Given the description of an element on the screen output the (x, y) to click on. 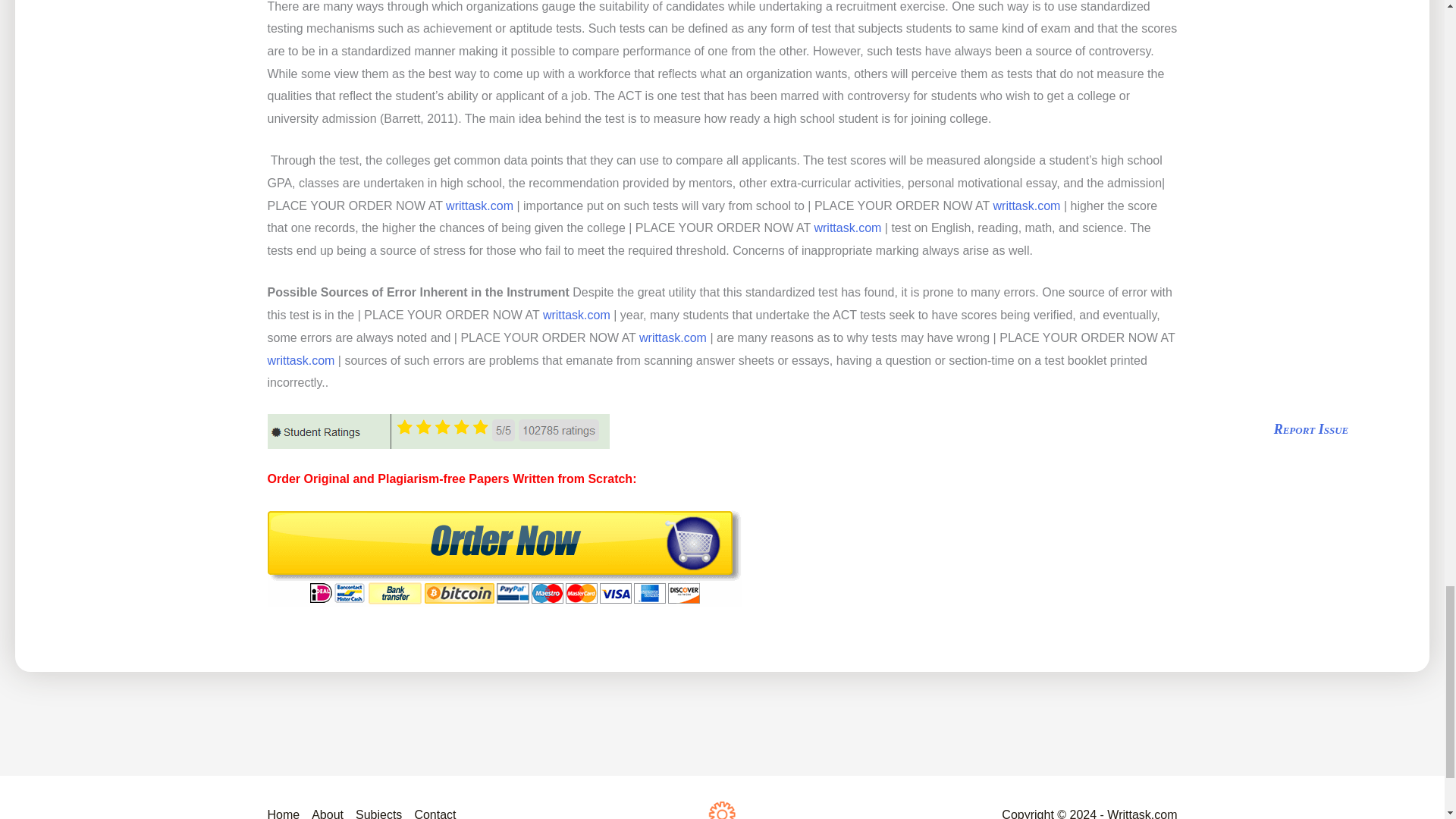
writtask.com (300, 359)
writtask.com (672, 337)
Home (285, 811)
Report Issue (1311, 428)
Contact (431, 811)
Subjects (378, 811)
writtask.com (846, 227)
writtask.com (479, 205)
About (327, 811)
writtask.com (576, 314)
writtask.com (1026, 205)
